Given the description of an element on the screen output the (x, y) to click on. 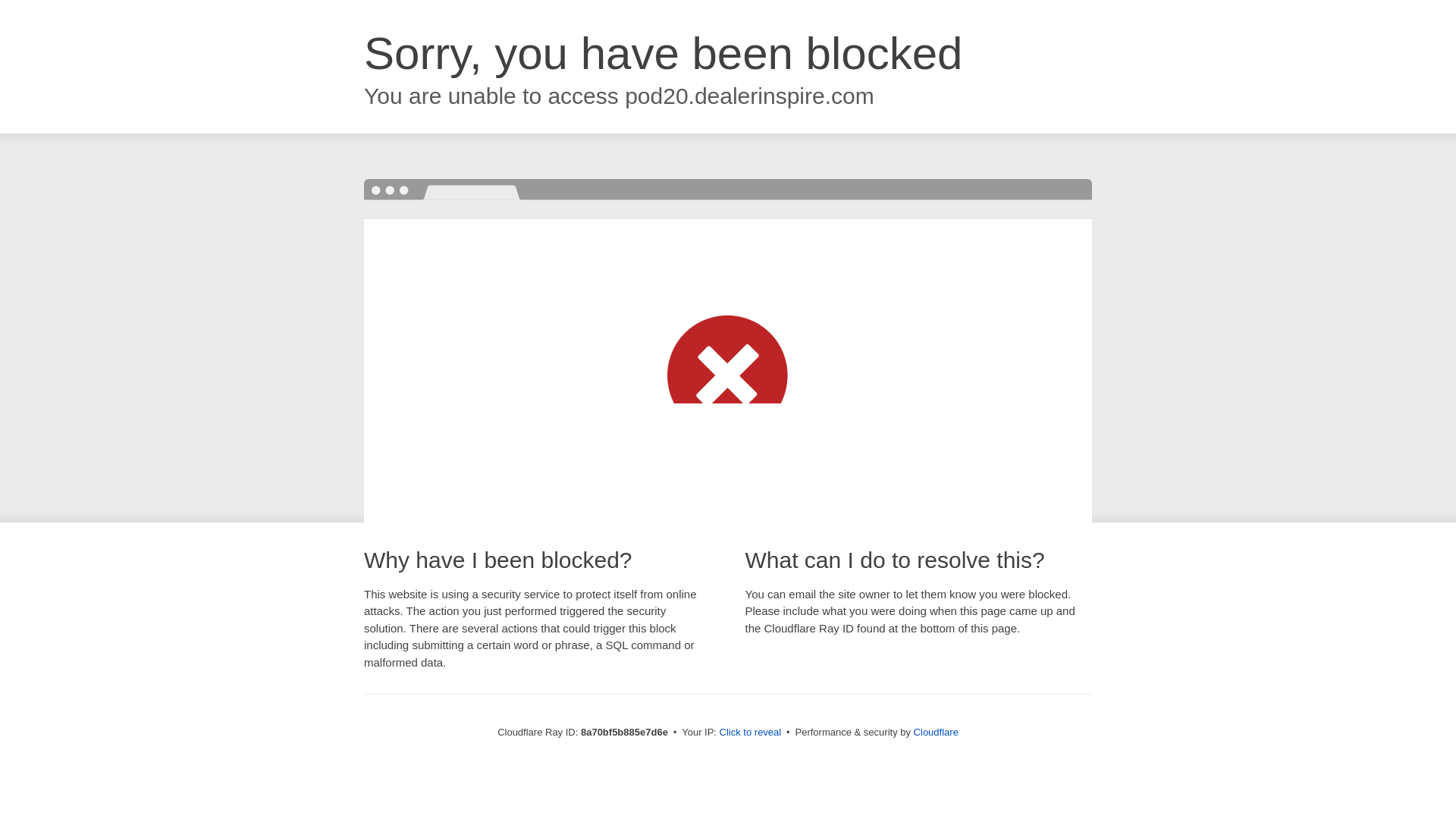
Click to reveal (750, 732)
Cloudflare (936, 731)
